Given the description of an element on the screen output the (x, y) to click on. 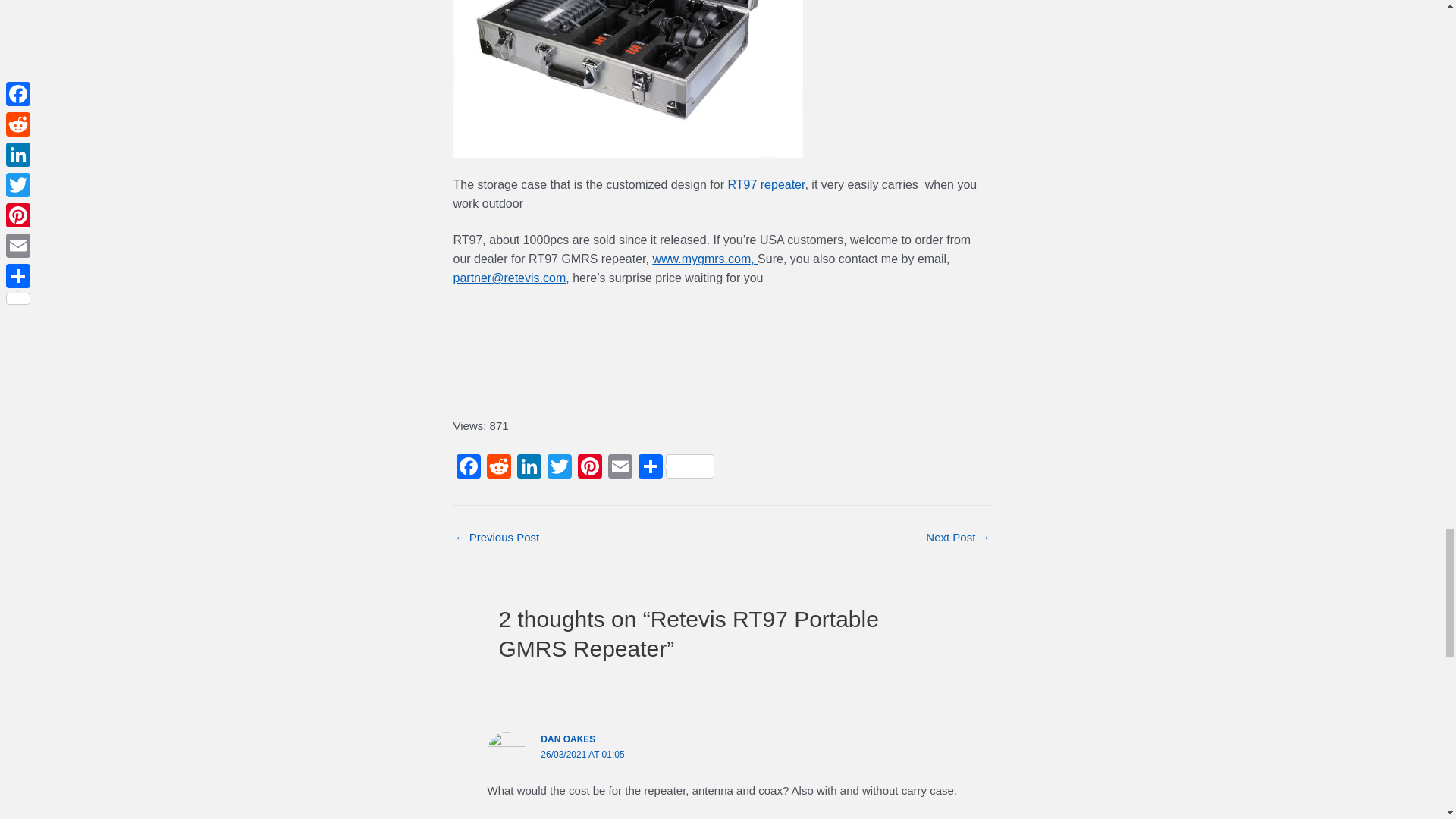
Reddit (498, 468)
Twitter (559, 468)
LinkedIn (528, 468)
How to choose the best walkie talkies in 2020? (497, 536)
Email (619, 468)
Pinterest (590, 468)
Facebook (467, 468)
How to download software from Retevis? (958, 536)
